Given the description of an element on the screen output the (x, y) to click on. 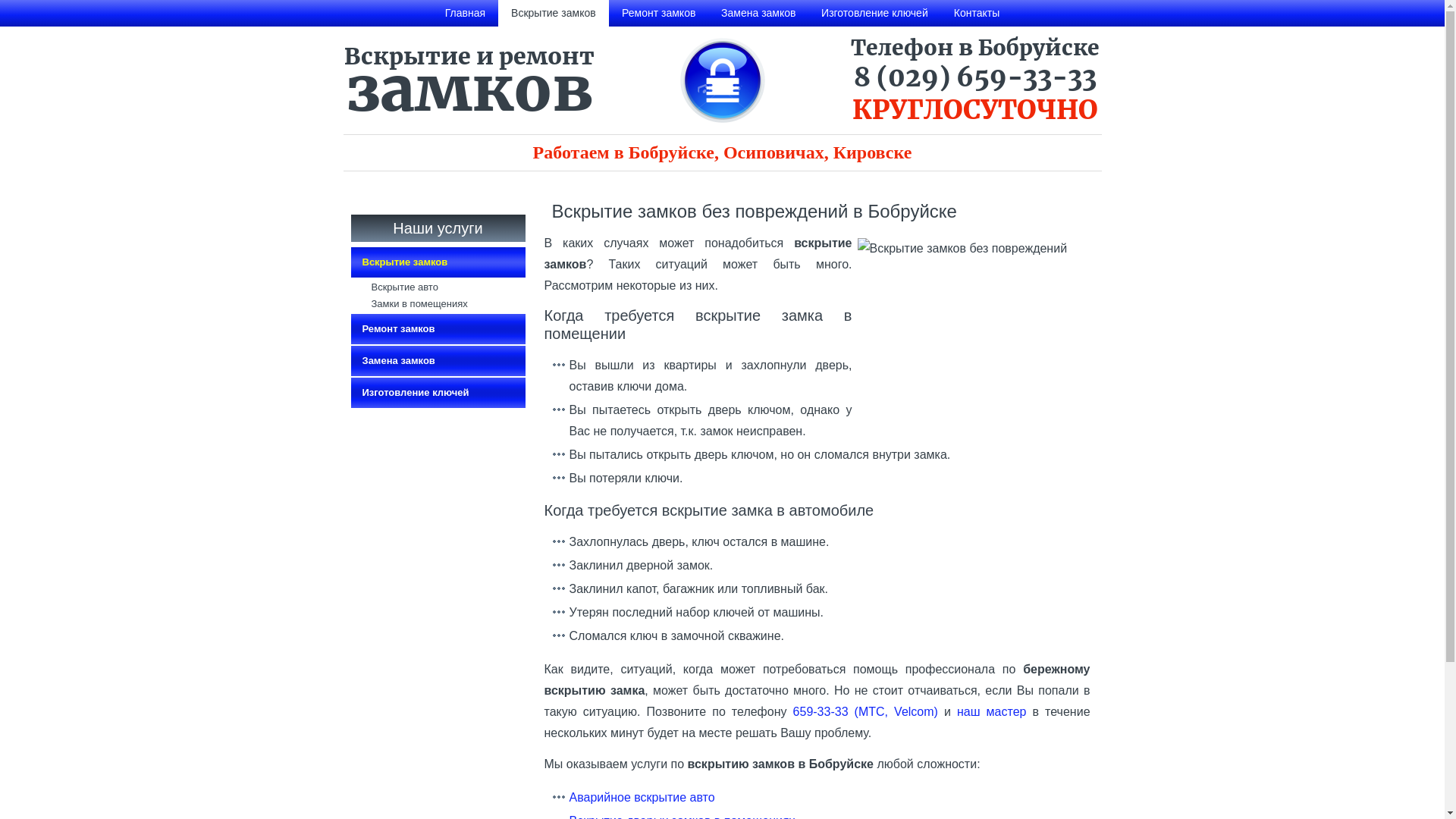
Facebook Element type: hover (438, 196)
LiveJournal Element type: hover (470, 196)
8 (029) 659-33-33 Element type: text (974, 77)
Google Plus Element type: hover (485, 196)
Twitter Element type: hover (453, 196)
